Given the description of an element on the screen output the (x, y) to click on. 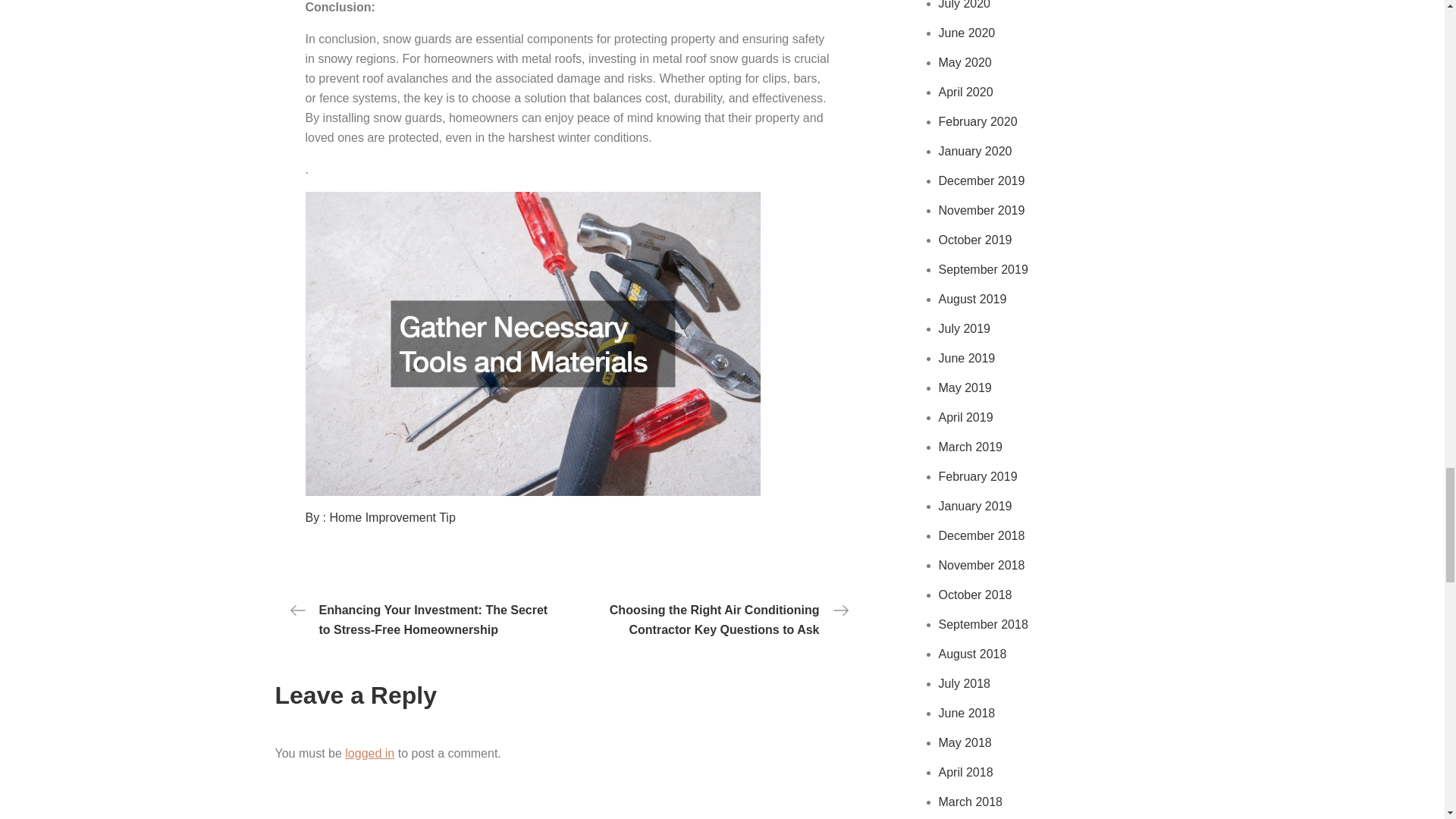
Home Improvement Tip (392, 517)
logged in (369, 753)
